Given the description of an element on the screen output the (x, y) to click on. 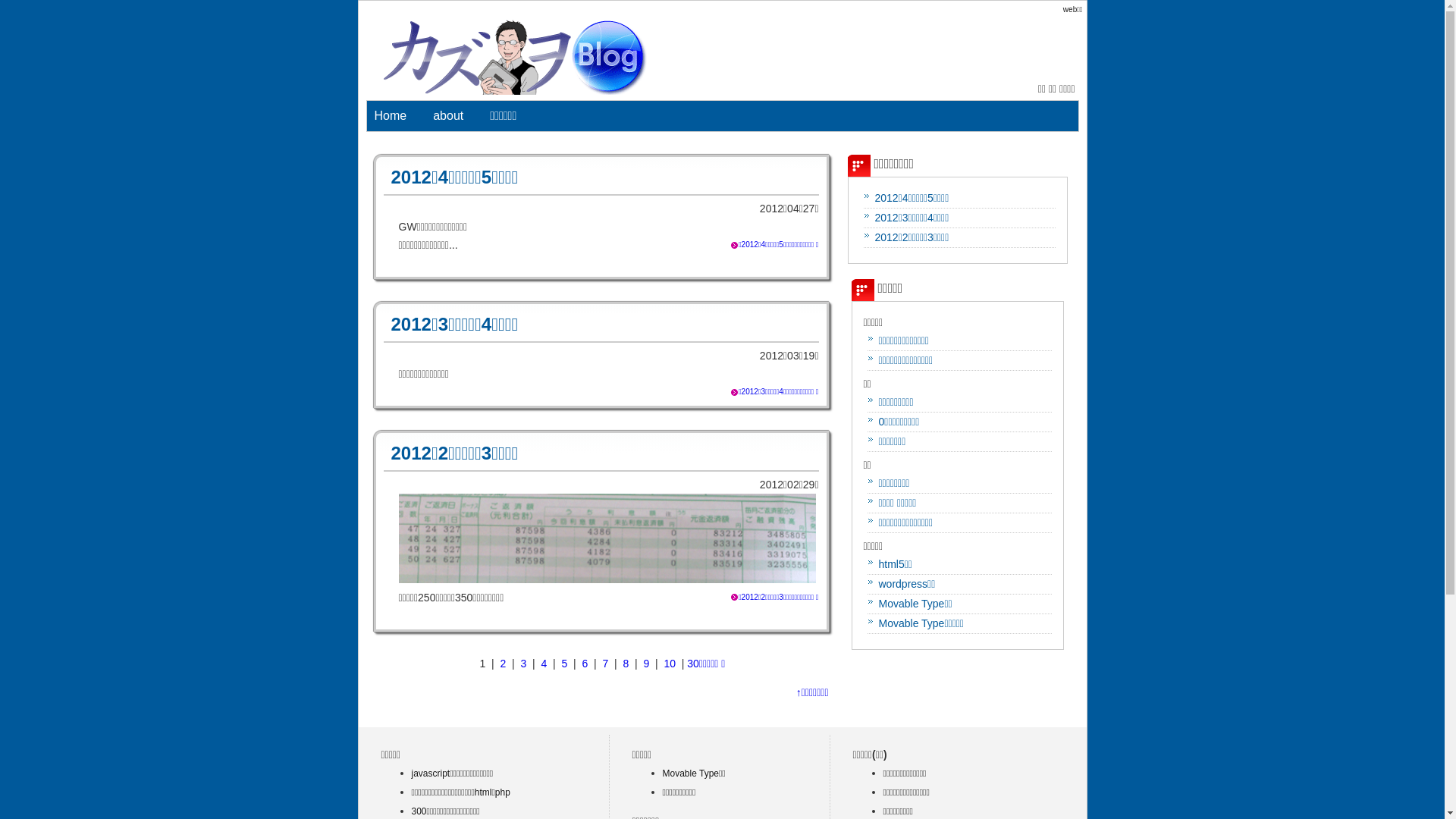
 2  Element type: text (503, 663)
about Element type: text (447, 115)
Home Element type: text (390, 115)
 7  Element type: text (605, 663)
 8  Element type: text (626, 663)
 5  Element type: text (564, 663)
 10  Element type: text (669, 663)
 3  Element type: text (523, 663)
 9  Element type: text (646, 663)
 6  Element type: text (585, 663)
 4  Element type: text (544, 663)
